Given the description of an element on the screen output the (x, y) to click on. 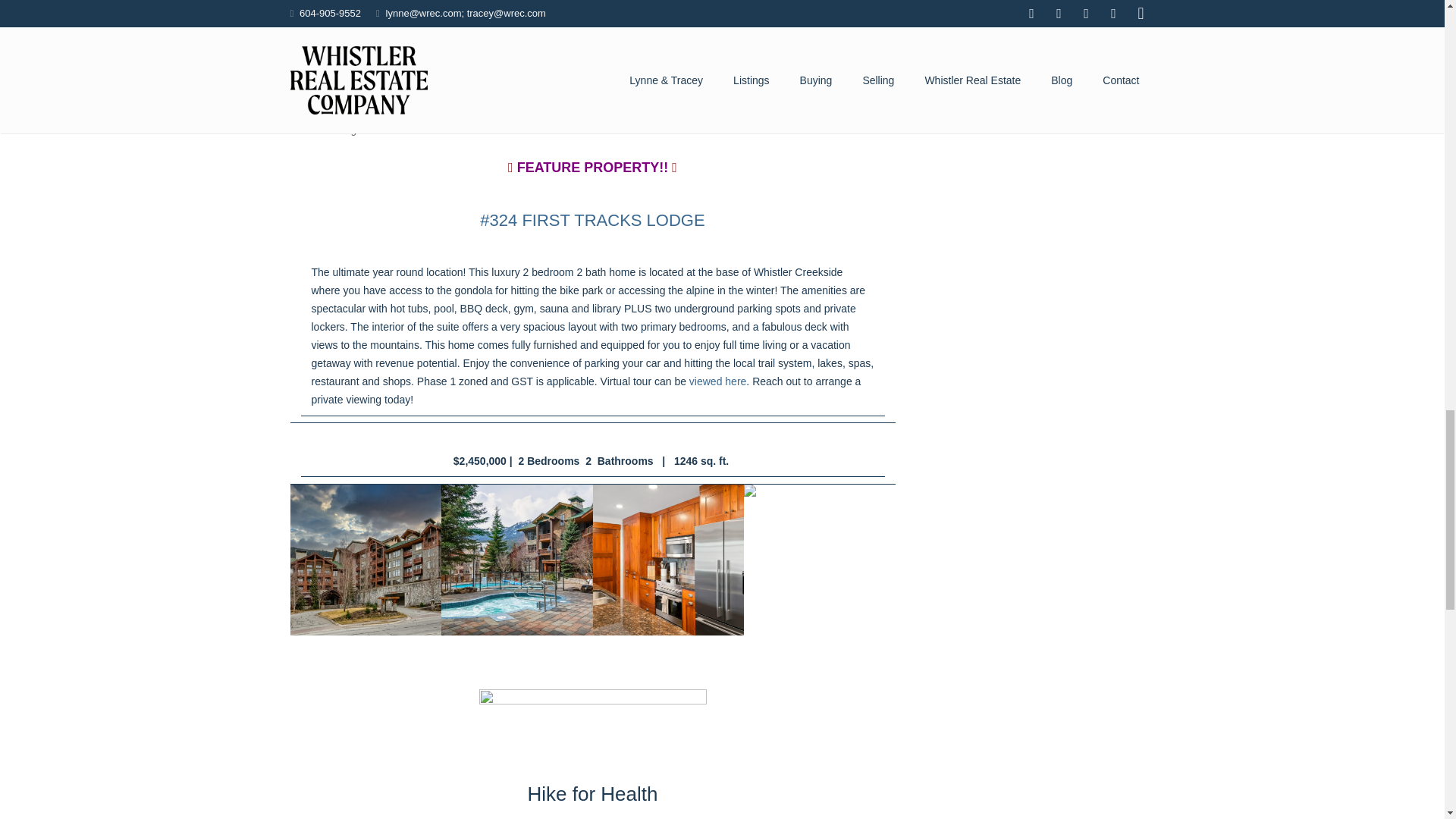
Spacious layout (819, 560)
Amazing Amenities (516, 560)
Gourmet Kitchen (668, 560)
Luxury Condo (365, 560)
viewed here (717, 381)
